Given the description of an element on the screen output the (x, y) to click on. 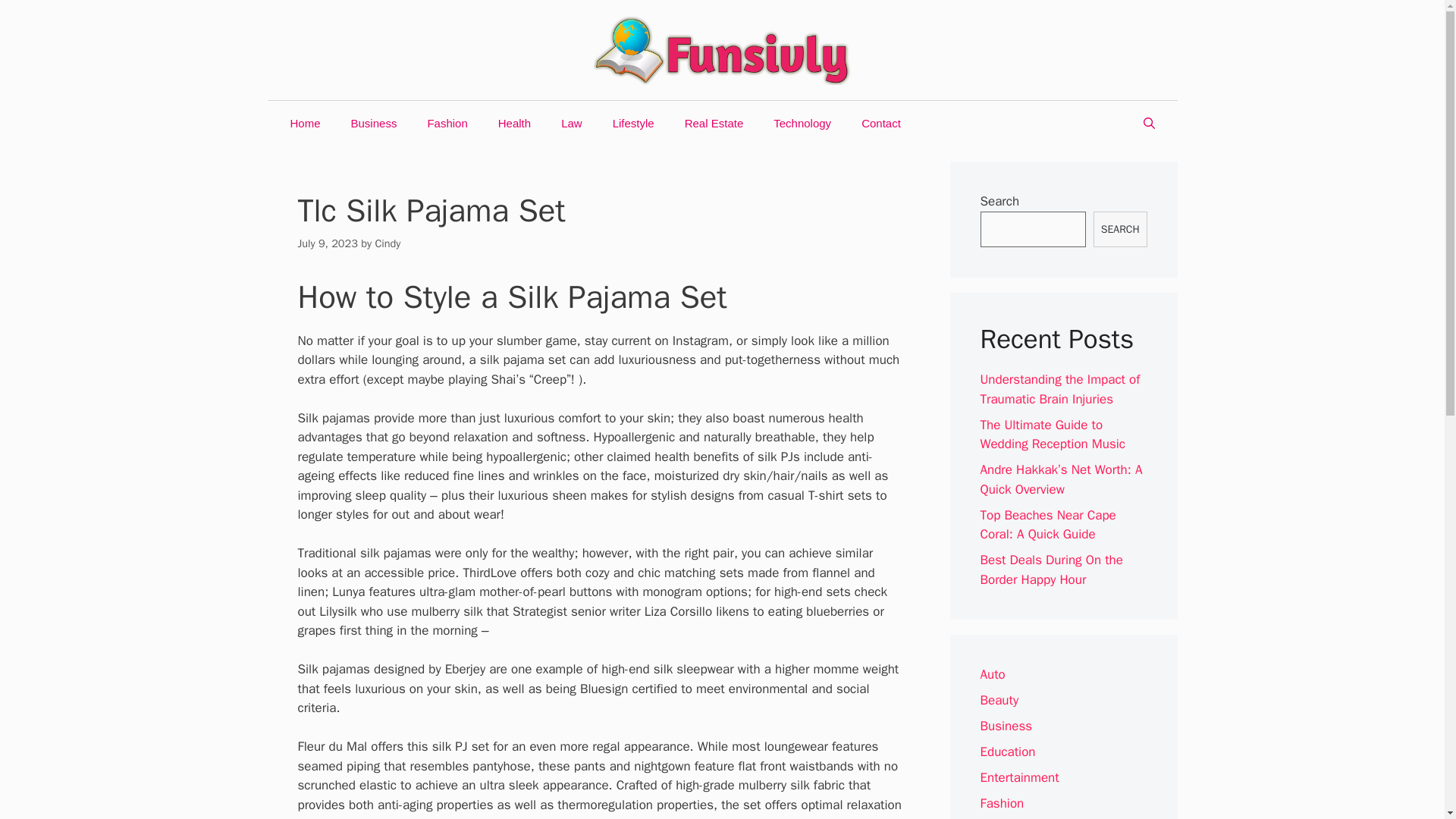
Fashion (446, 123)
Lifestyle (632, 123)
Health (514, 123)
Business (374, 123)
Auto (991, 674)
Top Beaches Near Cape Coral: A Quick Guide (1047, 524)
Education (1007, 751)
Fashion (1001, 803)
Contact (880, 123)
Home (304, 123)
